Given the description of an element on the screen output the (x, y) to click on. 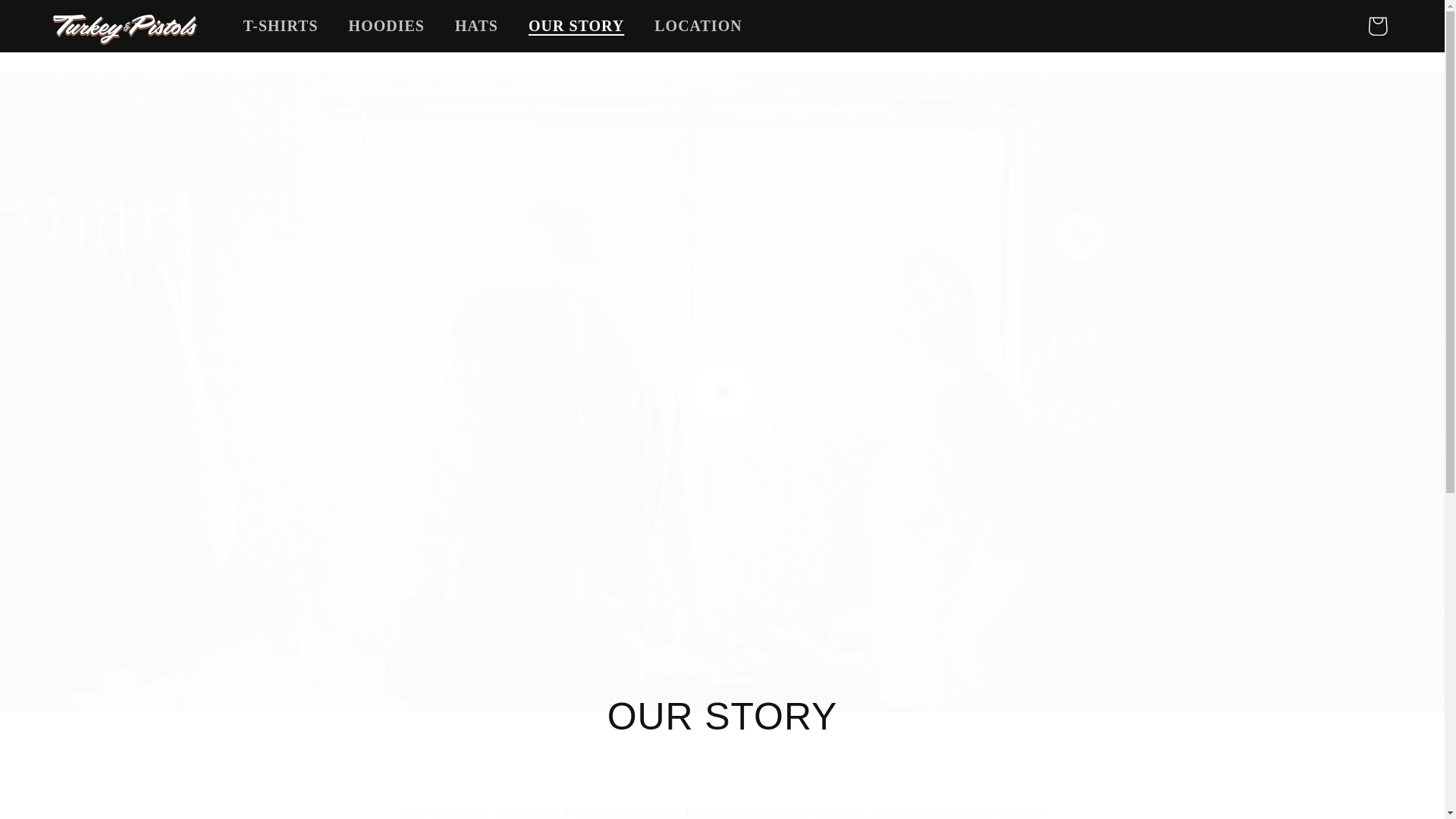
Skip to content (61, 24)
Cart (1377, 25)
LOCATION (698, 25)
T-SHIRTS (280, 25)
OUR STORY (576, 25)
HOODIES (386, 25)
OUR STORY (722, 716)
HATS (476, 25)
